Given the description of an element on the screen output the (x, y) to click on. 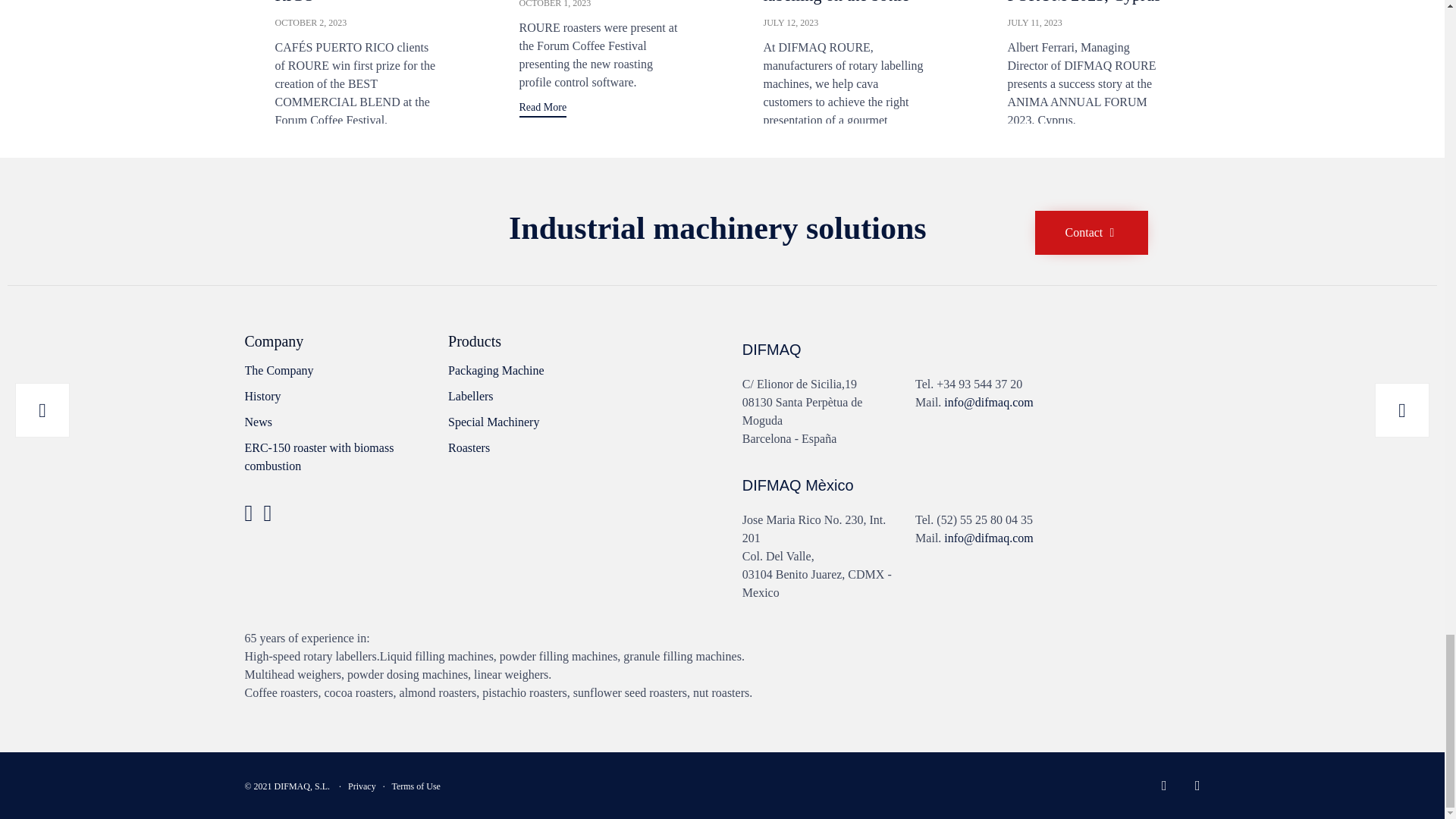
Roure Roaster with new roasting control software (554, 4)
